Given the description of an element on the screen output the (x, y) to click on. 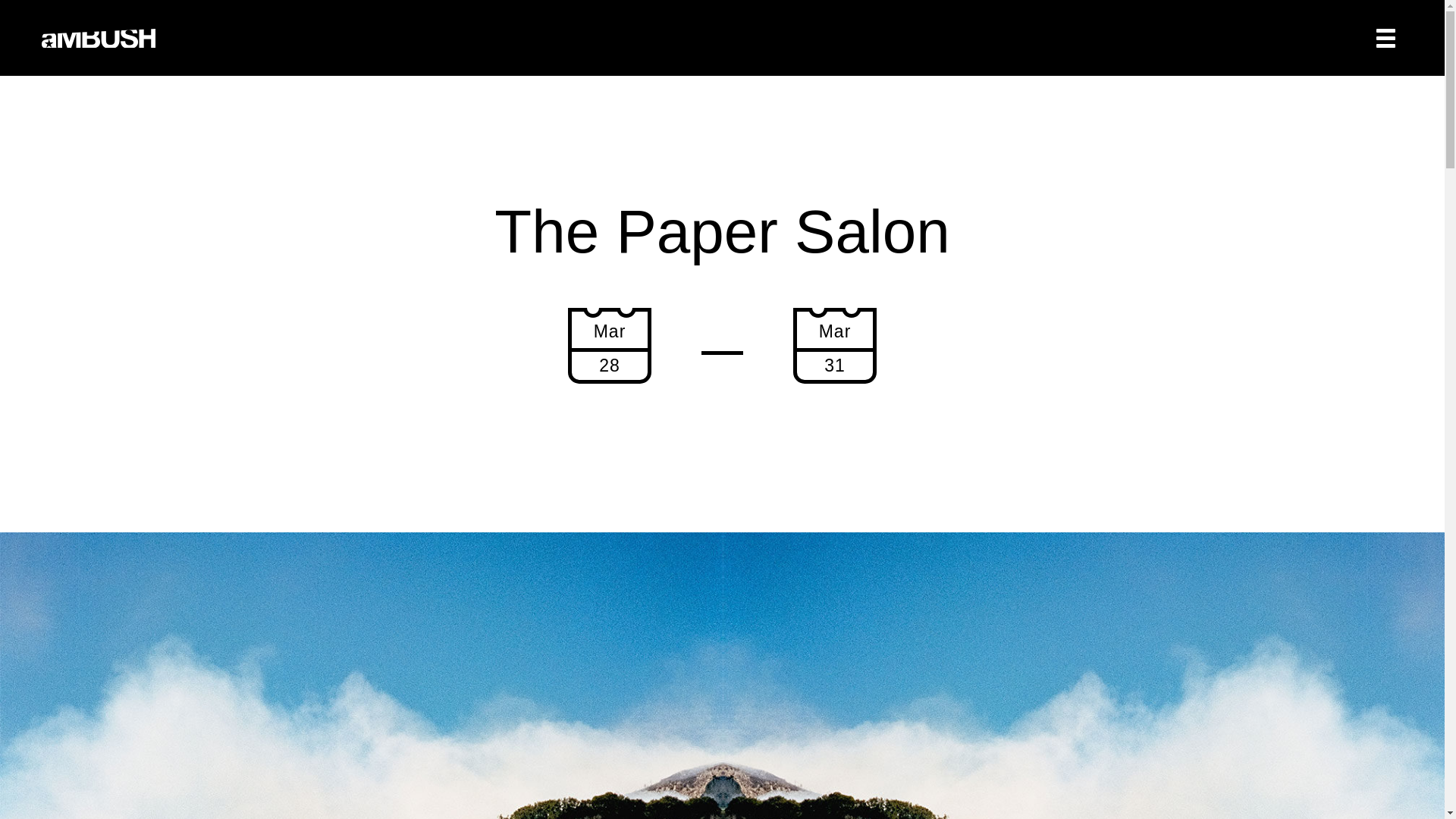
aMBUSH GALLERY (98, 38)
